Given the description of an element on the screen output the (x, y) to click on. 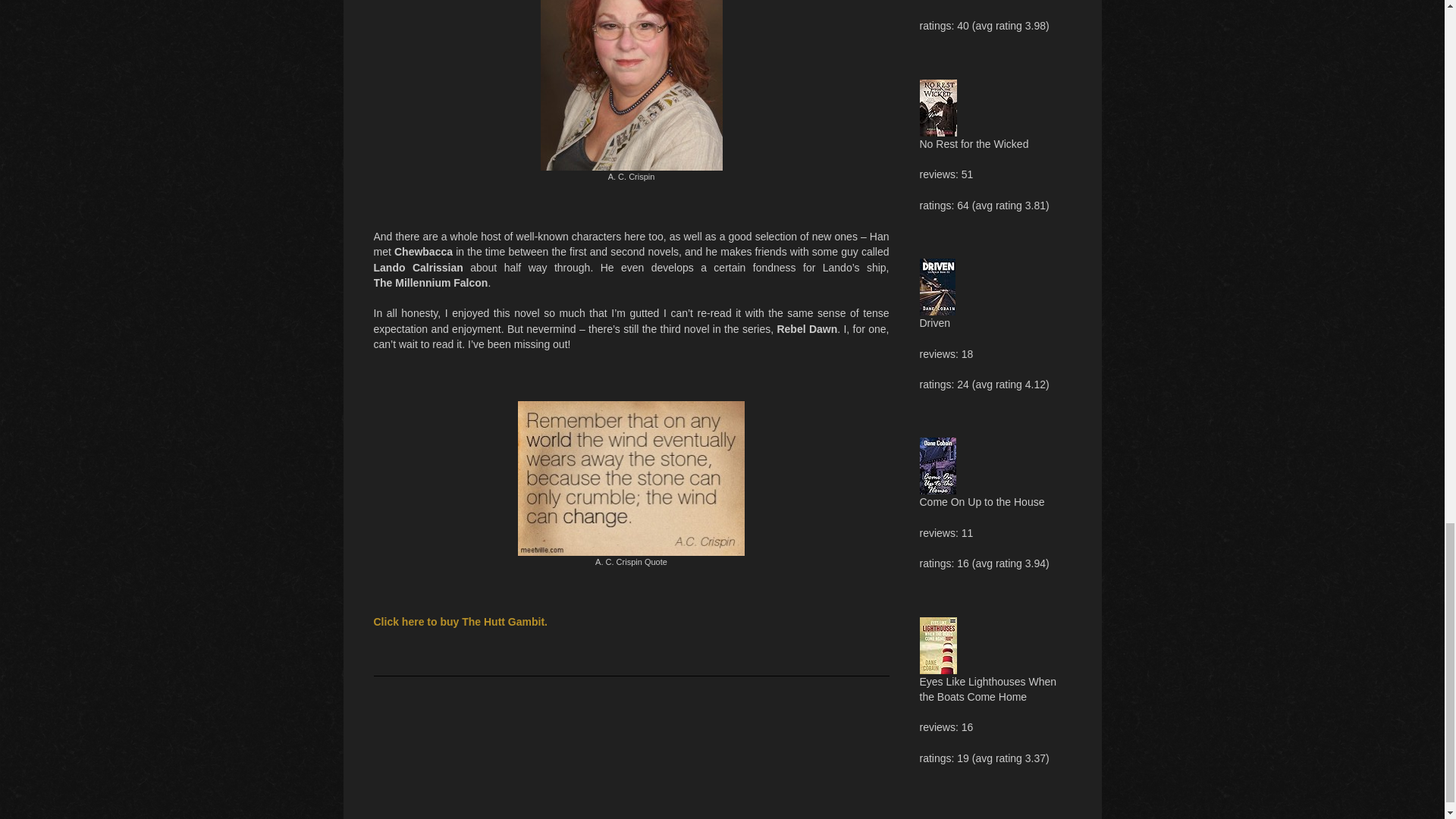
Come On Up to the House (936, 444)
Driven (936, 265)
Eyes Like Lighthouses When the Boats Come Home (937, 624)
Buy A. C. Crispin - The Hutt Gambit (459, 621)
No Rest for the Wicked (937, 87)
